Given the description of an element on the screen output the (x, y) to click on. 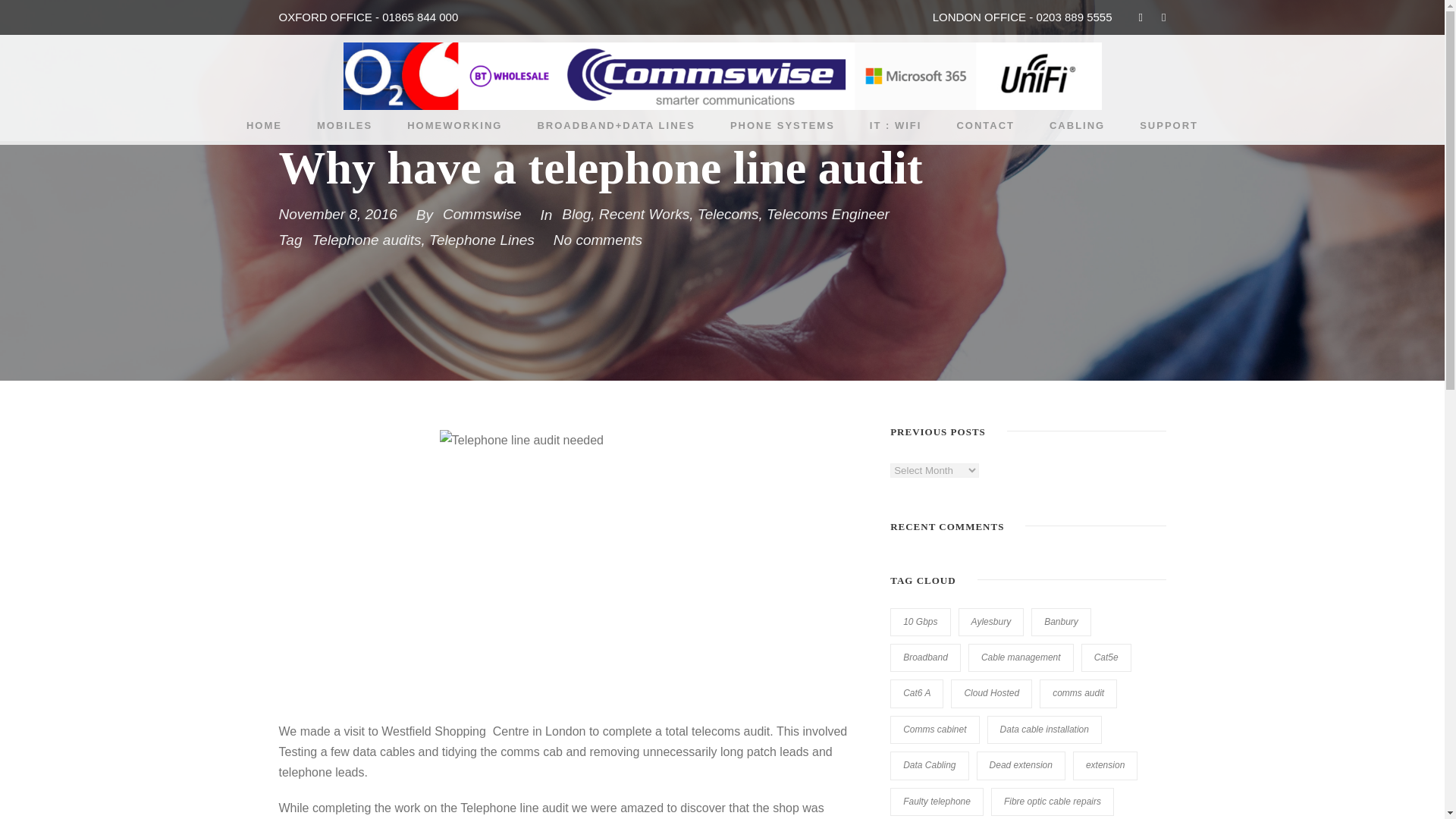
MOBILES (344, 128)
HOMEWORKING (454, 128)
HOME (264, 128)
Posts by Commswise (481, 213)
Logos (721, 76)
Telephone line audits needed (568, 567)
PHONE SYSTEMS (782, 128)
